Given the description of an element on the screen output the (x, y) to click on. 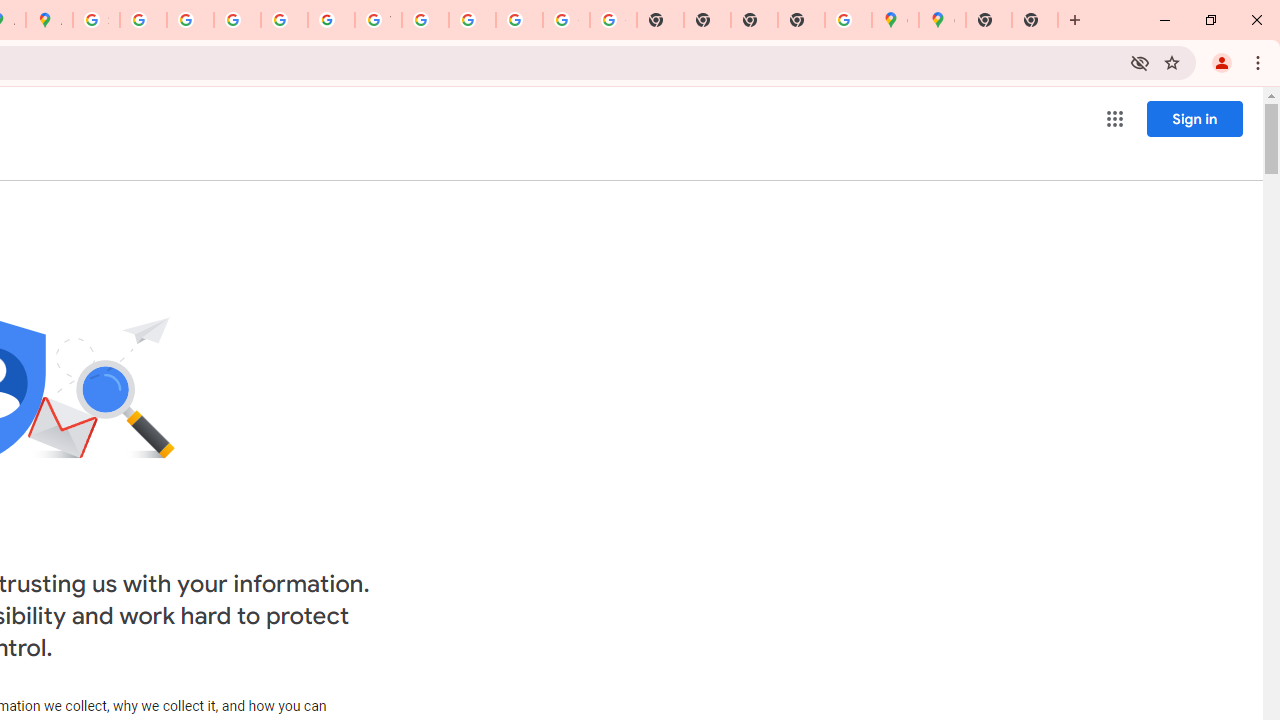
Use Google Maps in Space - Google Maps Help (848, 20)
YouTube (377, 20)
Privacy Help Center - Policies Help (189, 20)
Google Maps (942, 20)
Google Maps (895, 20)
New Tab (989, 20)
New Tab (1035, 20)
